Given the description of an element on the screen output the (x, y) to click on. 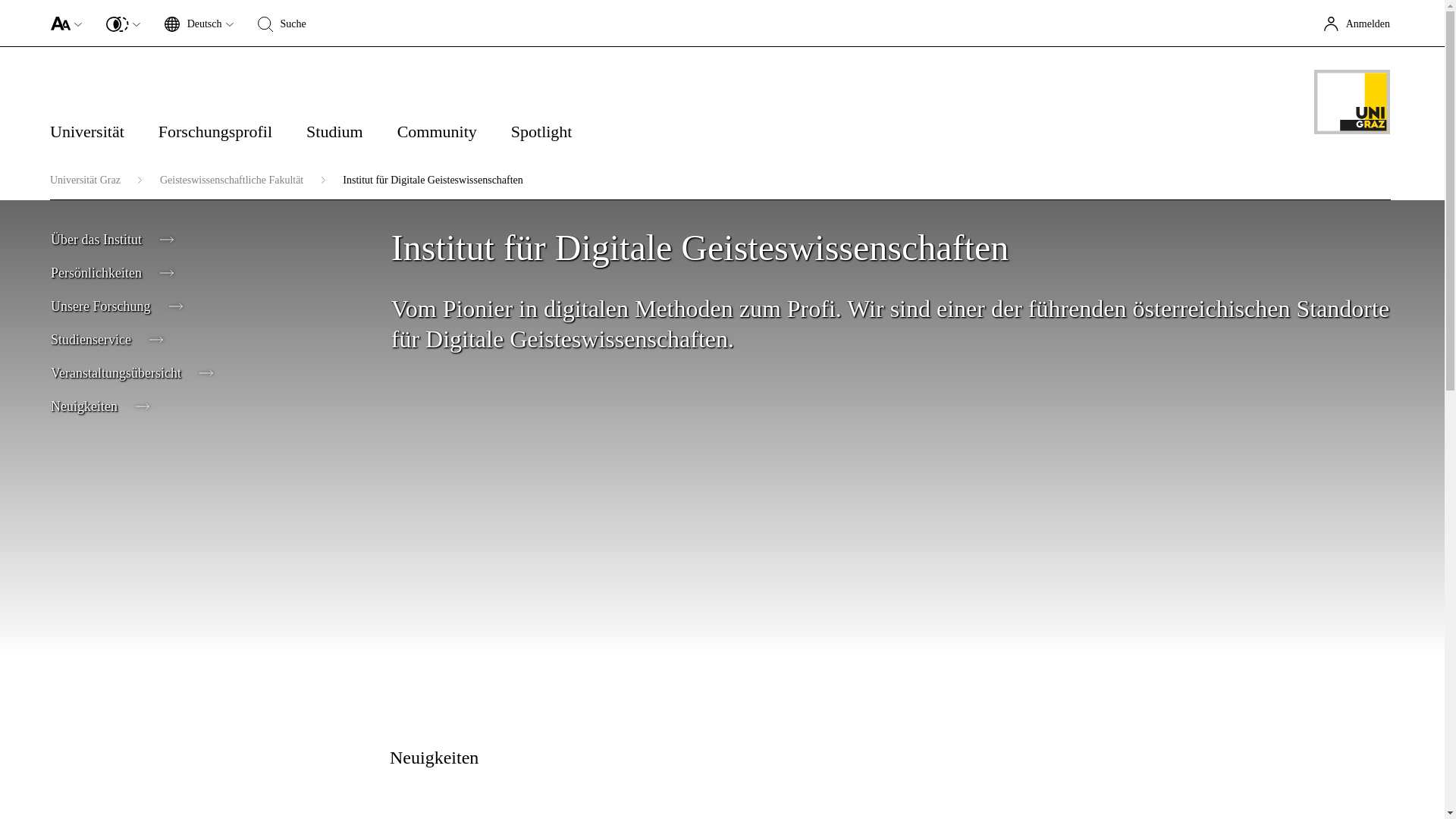
Sprache: Deutsch (193, 23)
Forschungsprofil (231, 137)
Anmelden (1359, 22)
Suche (285, 22)
